Given the description of an element on the screen output the (x, y) to click on. 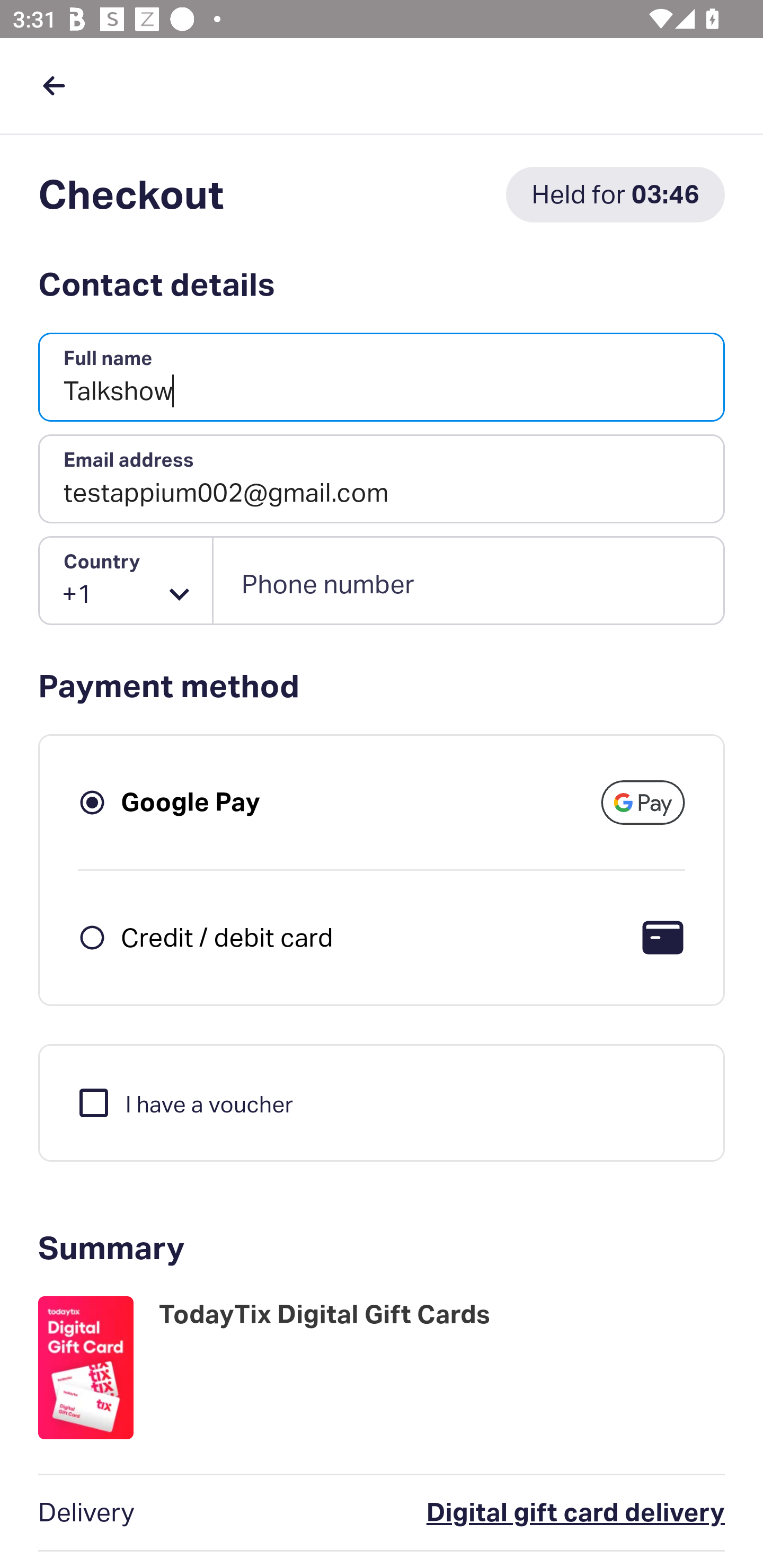
back button (53, 85)
Talkshow (381, 377)
testappium002@gmail.com (381, 478)
  +1 (126, 580)
Google Pay (190, 802)
Credit / debit card (227, 936)
I have a voucher (183, 1101)
Digital gift card delivery (495, 1512)
